Given the description of an element on the screen output the (x, y) to click on. 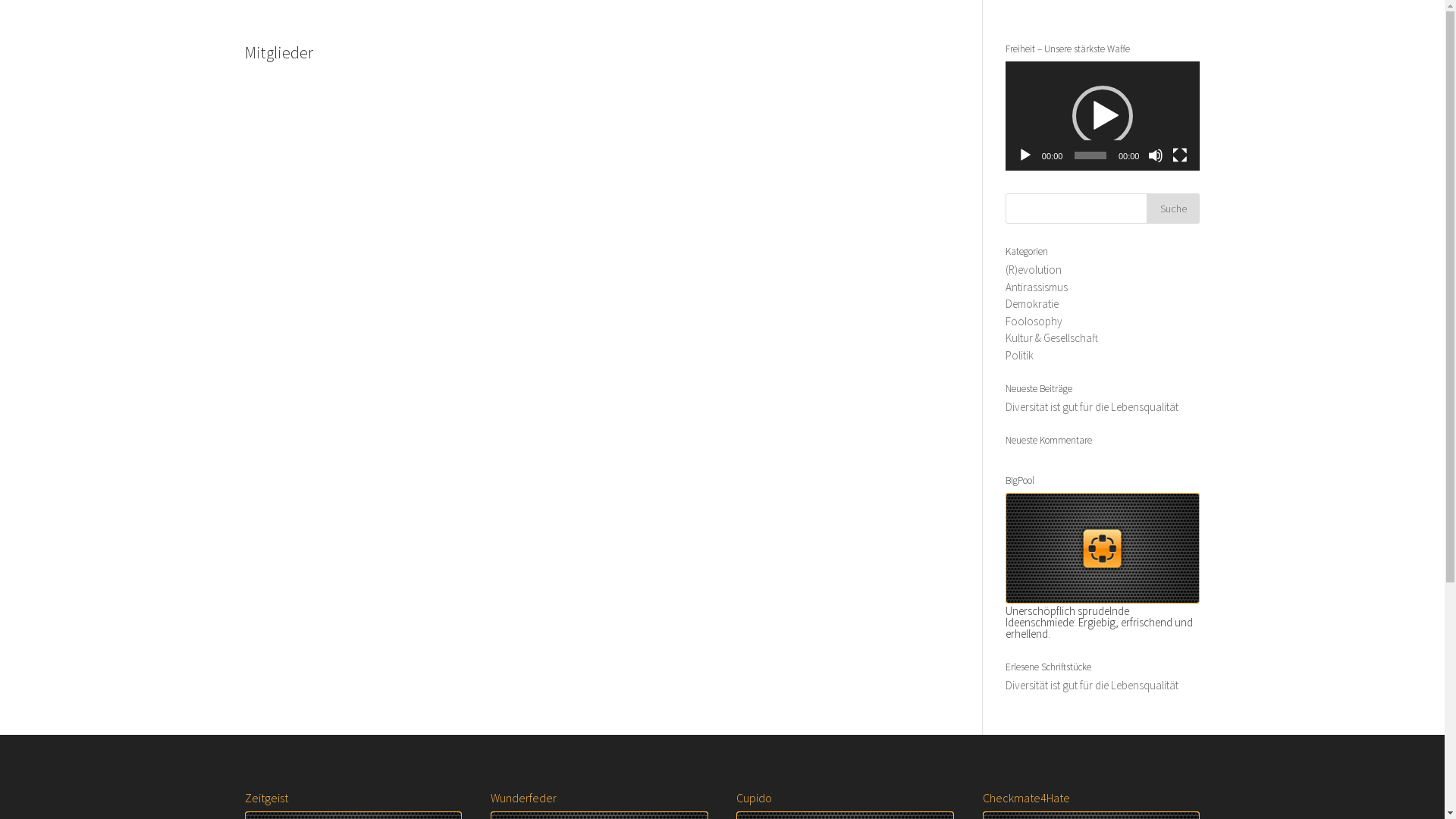
Foolosophy Element type: text (1033, 320)
Kultur & Gesellschaft Element type: text (1051, 337)
Vollbild Element type: hover (1179, 155)
Demokratie Element type: text (1031, 303)
(R)evolution Element type: text (1033, 269)
Stumm Element type: hover (1155, 155)
Abspielen Element type: hover (1024, 155)
Antirassismus Element type: text (1036, 286)
Politik Element type: text (1019, 355)
Suche Element type: text (1172, 208)
